Given the description of an element on the screen output the (x, y) to click on. 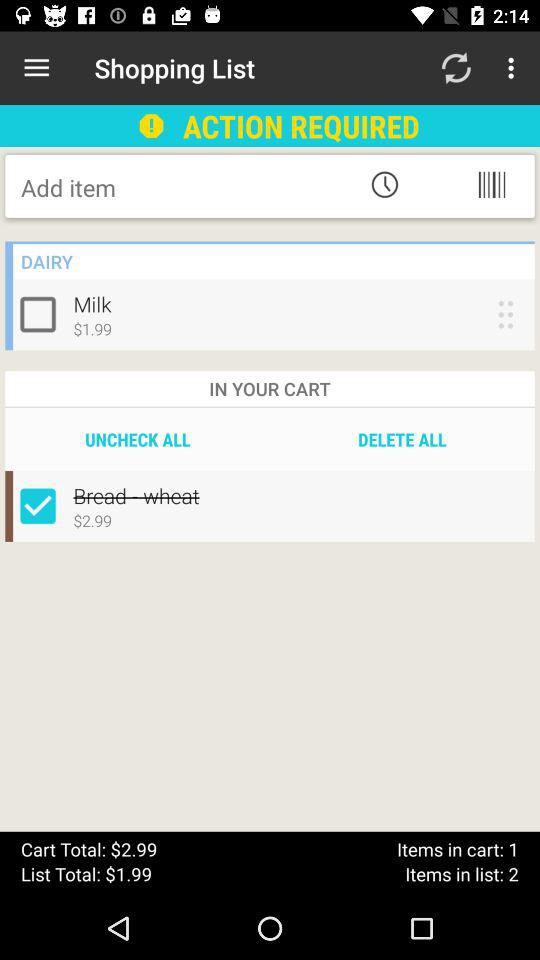
click item to the right of the uncheck all item (402, 439)
